Given the description of an element on the screen output the (x, y) to click on. 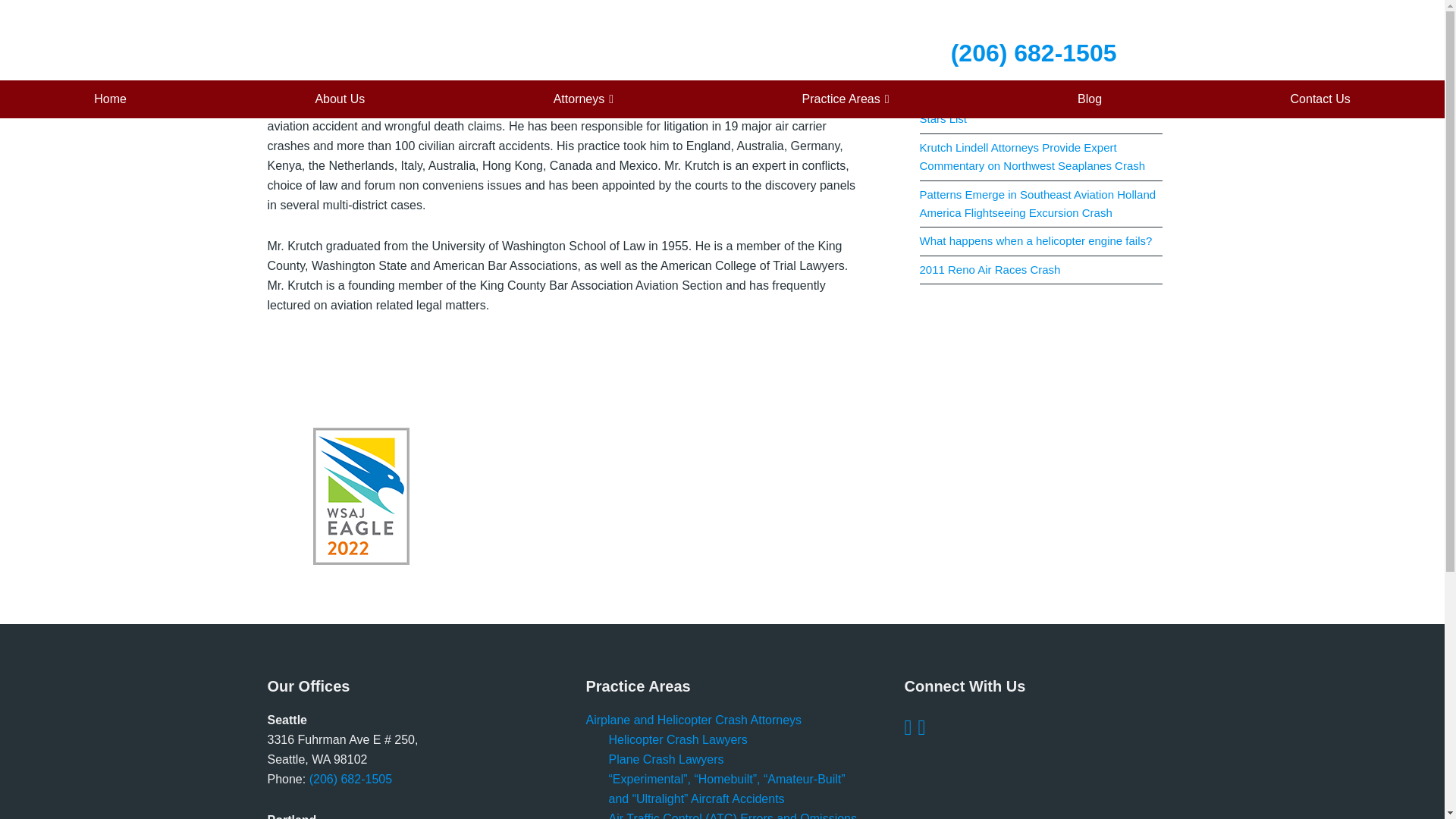
About Us (339, 98)
Home (109, 98)
Nate Bingham Selected Once Again to Rising Stars List (1033, 109)
Attorneys (583, 98)
Practice Areas (845, 98)
Contact Us (1320, 98)
2011 Reno Air Races Crash (988, 269)
What happens when a helicopter engine fails? (1034, 240)
Blog (1089, 98)
